Given the description of an element on the screen output the (x, y) to click on. 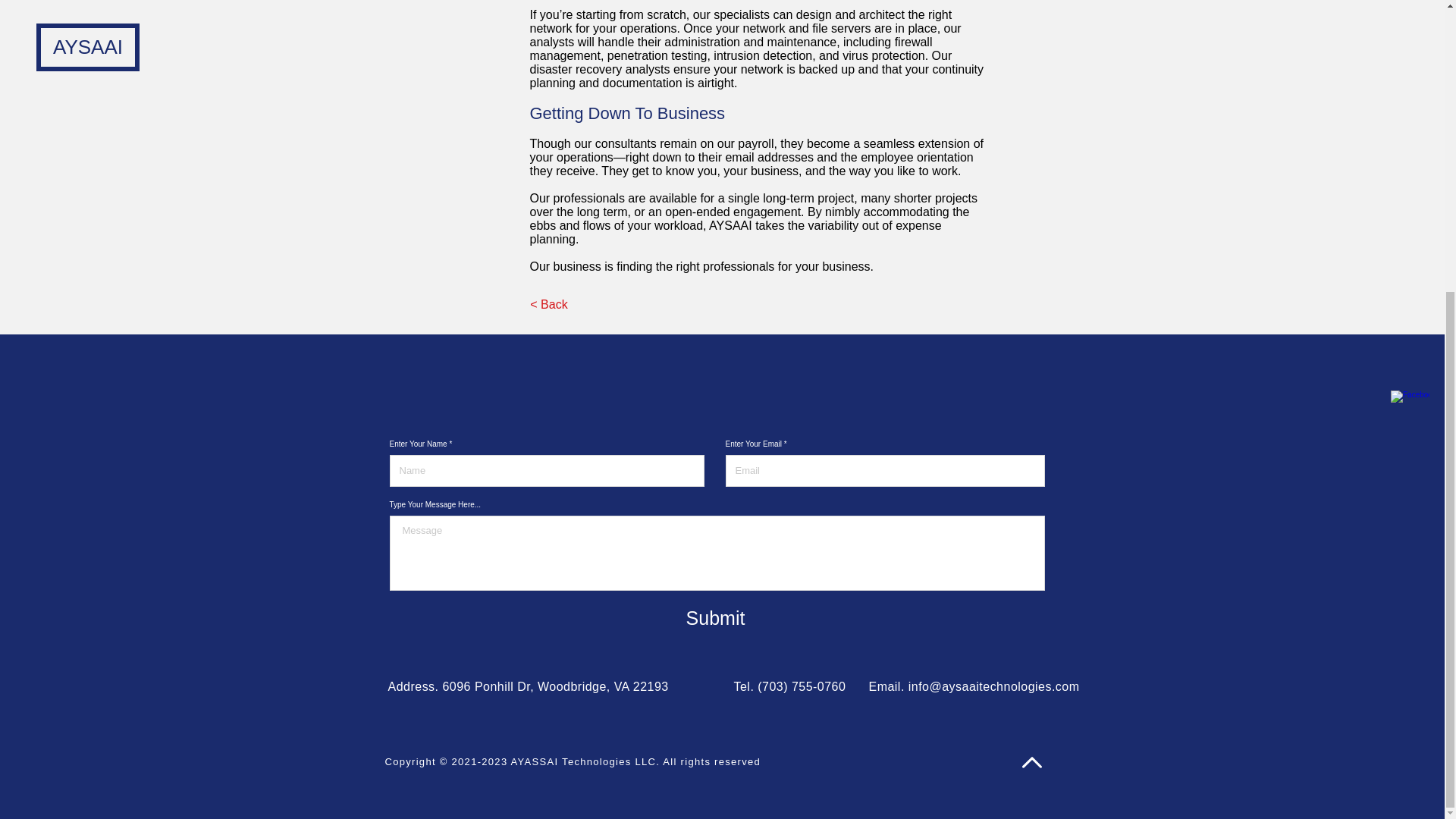
Submit (714, 617)
